Given the description of an element on the screen output the (x, y) to click on. 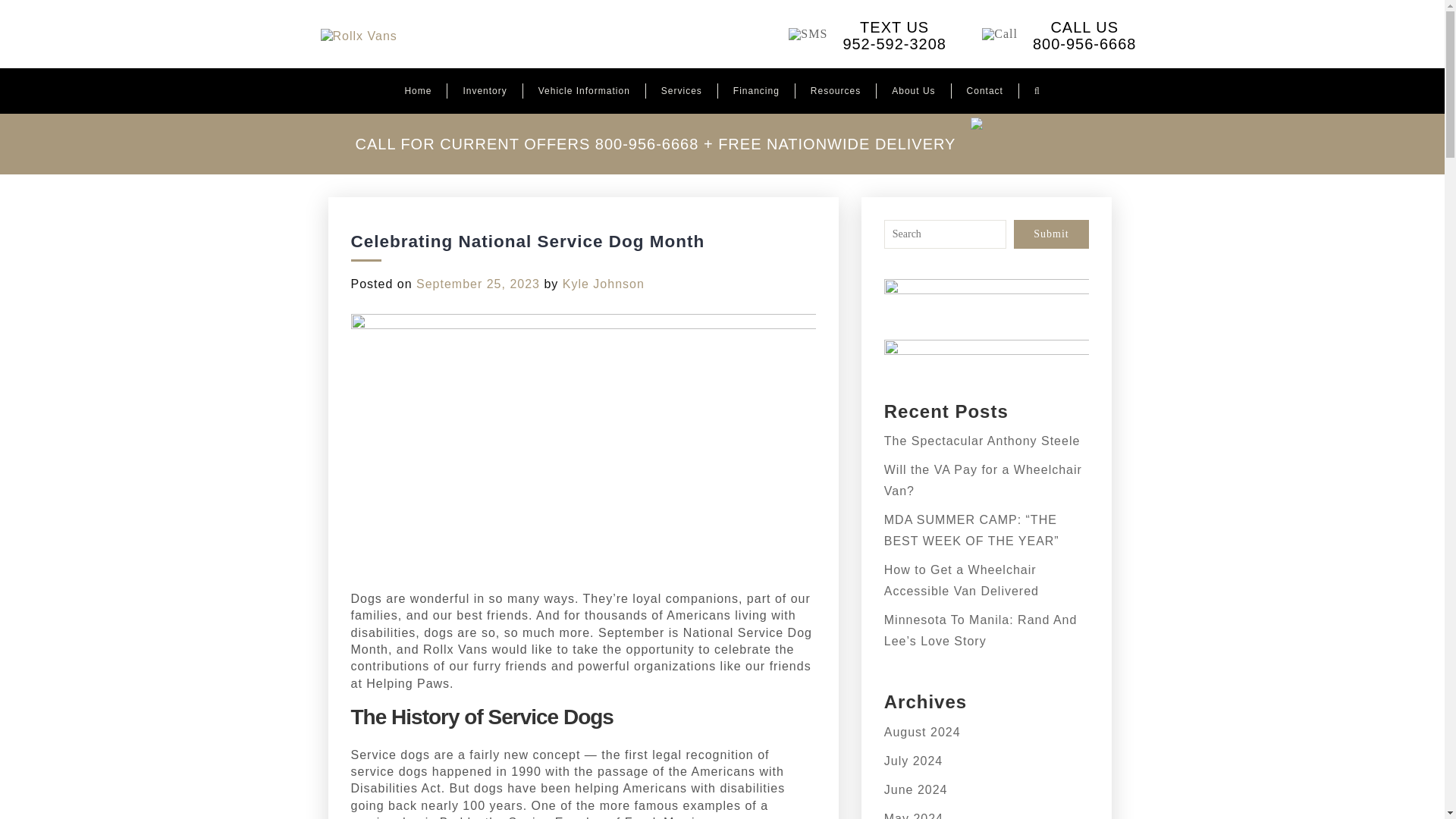
Vehicle Information (584, 90)
Resources (835, 90)
Services (1044, 34)
Inventory (681, 90)
Skip to content (853, 34)
Financing (484, 90)
